Given the description of an element on the screen output the (x, y) to click on. 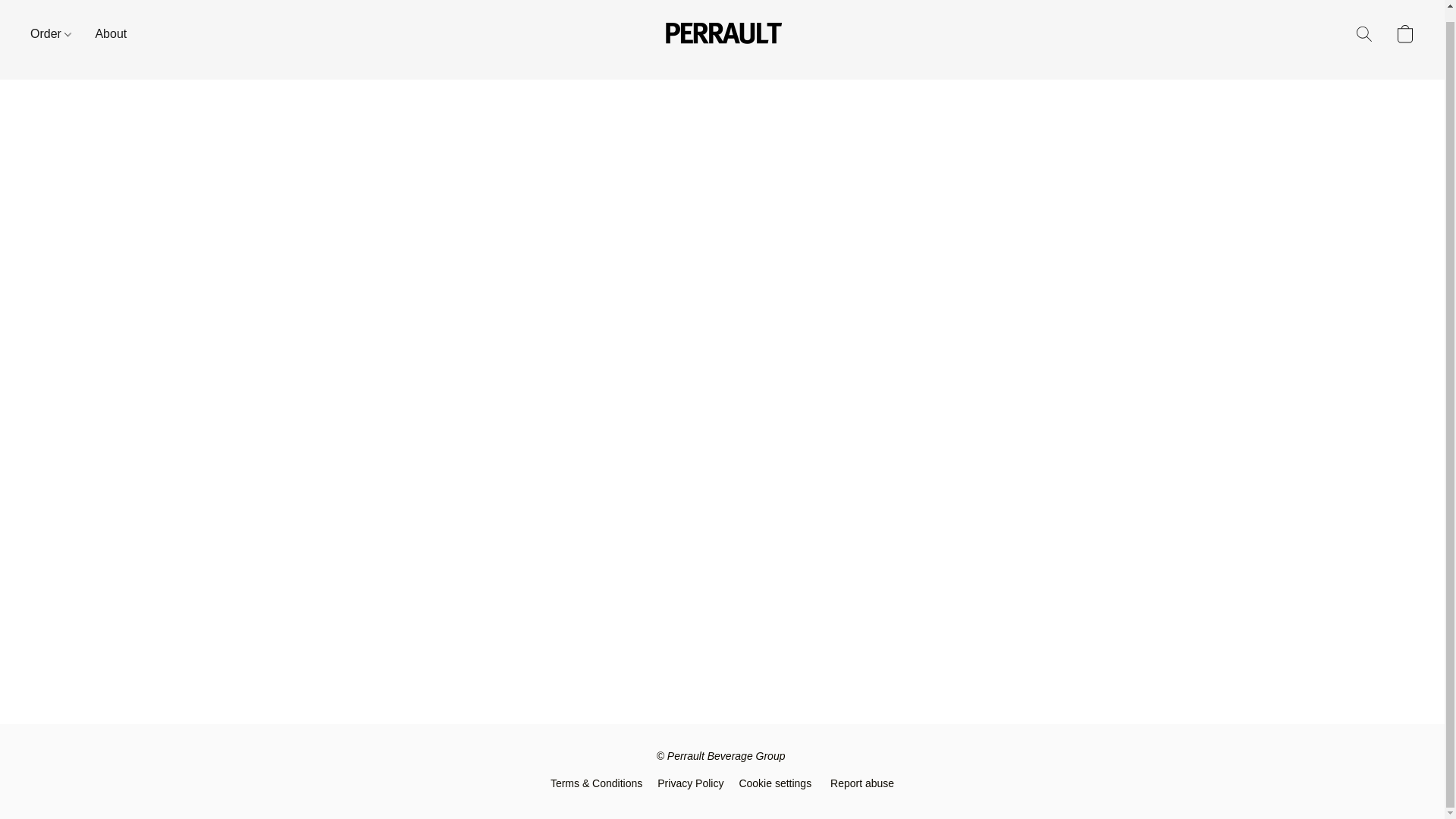
Search the website (1363, 33)
Privacy Policy (690, 782)
Order (56, 33)
Report abuse (861, 782)
Go to your shopping cart (1404, 33)
About (104, 33)
